Given the description of an element on the screen output the (x, y) to click on. 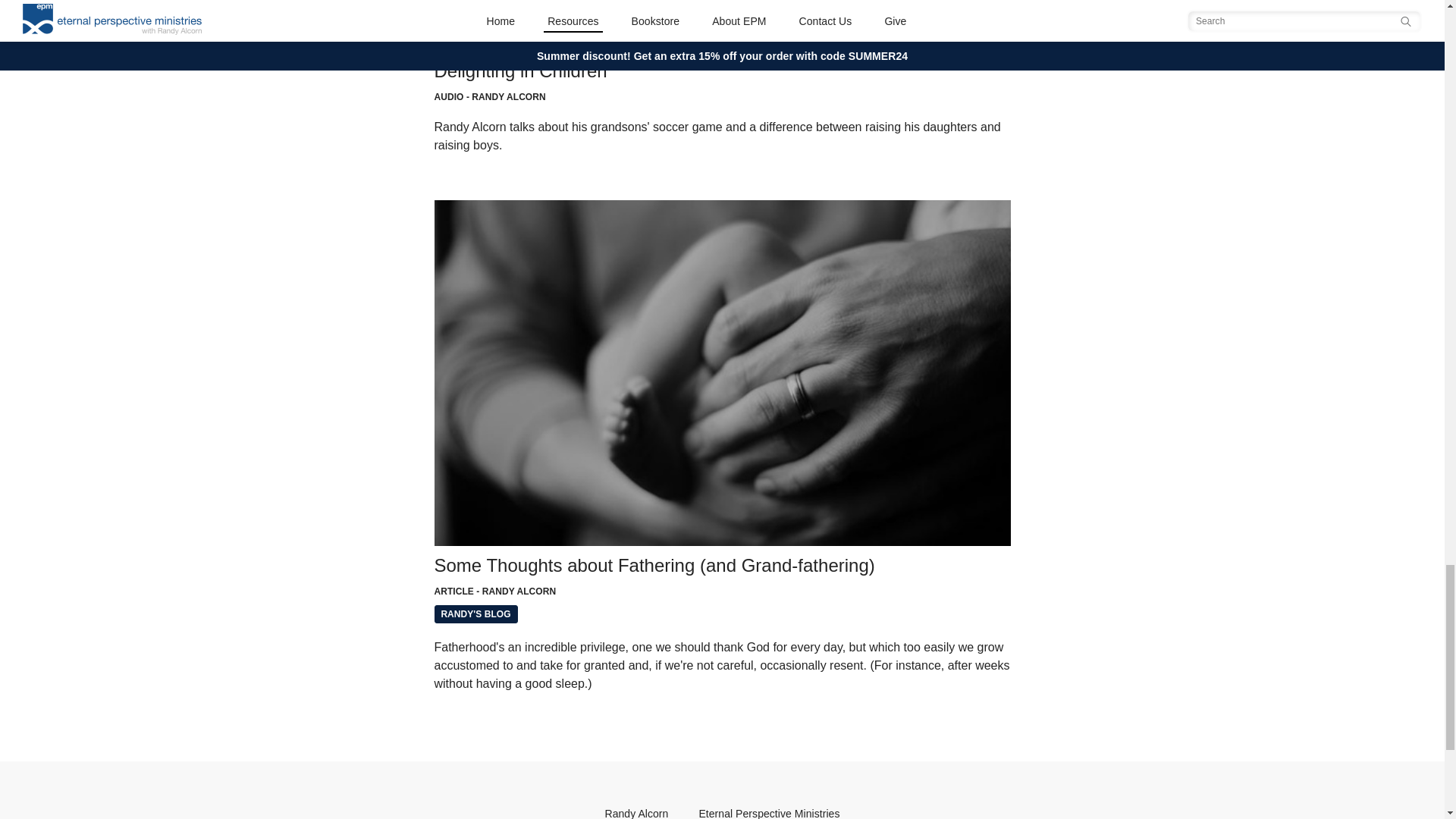
Delighting in Children (721, 25)
